Given the description of an element on the screen output the (x, y) to click on. 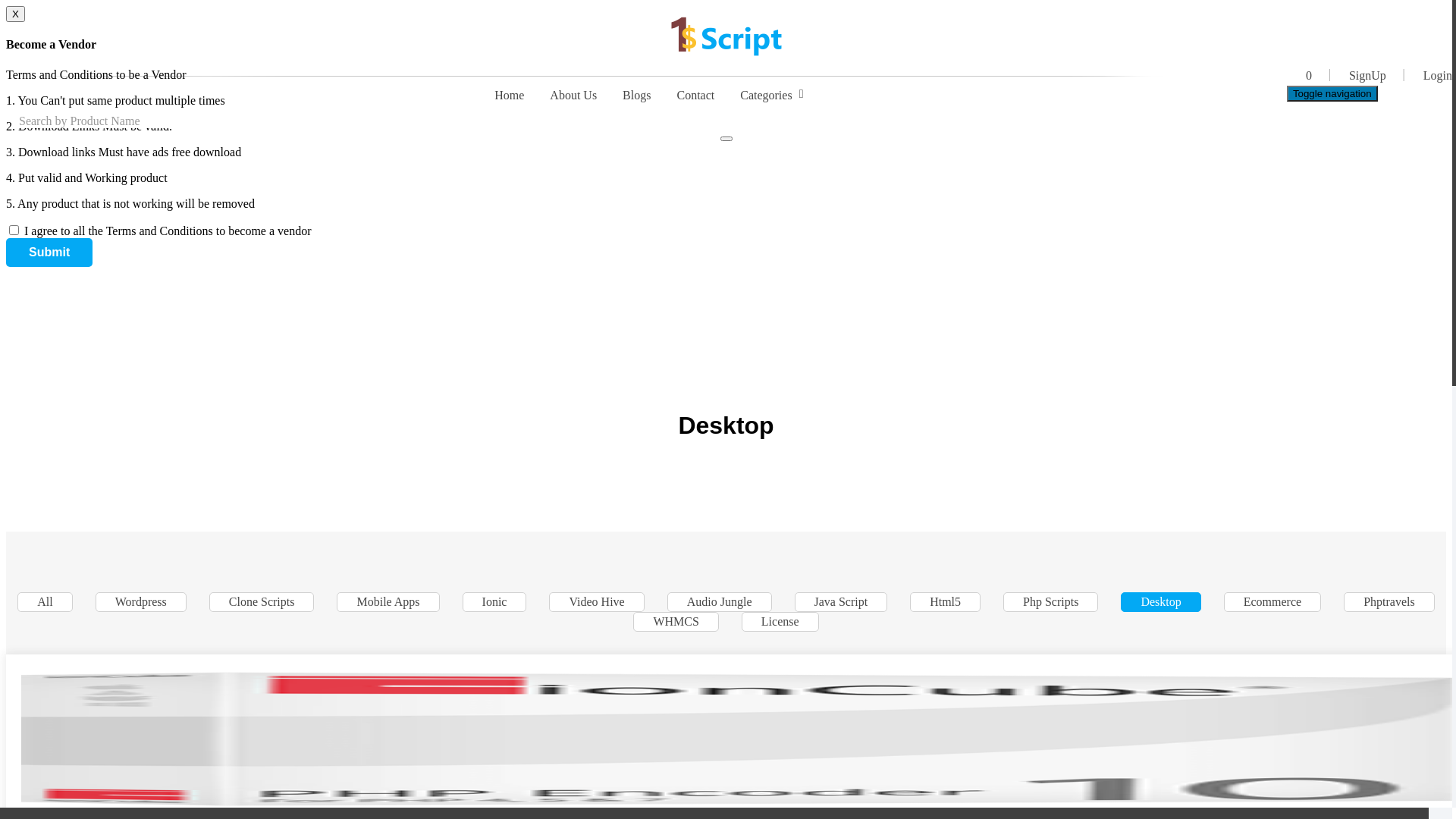
Java Script Element type: text (841, 601)
WHMCS Element type: text (675, 621)
Phptravels Element type: text (1388, 601)
X Element type: text (15, 13)
Desktop Element type: text (1160, 601)
Ionic Element type: text (494, 601)
Home Element type: text (509, 94)
Mobile Apps Element type: text (387, 601)
Blogs Element type: text (636, 94)
Php Scripts Element type: text (1050, 601)
All Element type: text (44, 601)
Audio Jungle Element type: text (719, 601)
License Element type: text (780, 621)
Categories Element type: text (765, 94)
Contact Element type: text (695, 94)
Video Hive Element type: text (596, 601)
Ecommerce Element type: text (1272, 601)
Html5 Element type: text (945, 601)
Login Element type: text (1428, 71)
About Us Element type: text (572, 94)
1$ Script - Download Themes And Scripts For 1$ Element type: hover (725, 36)
Submit Element type: text (49, 252)
SignUp Element type: text (1365, 71)
Wordpress Element type: text (140, 601)
0 Element type: text (1306, 71)
Toggle navigation Element type: text (1331, 93)
Clone Scripts Element type: text (261, 601)
